Given the description of an element on the screen output the (x, y) to click on. 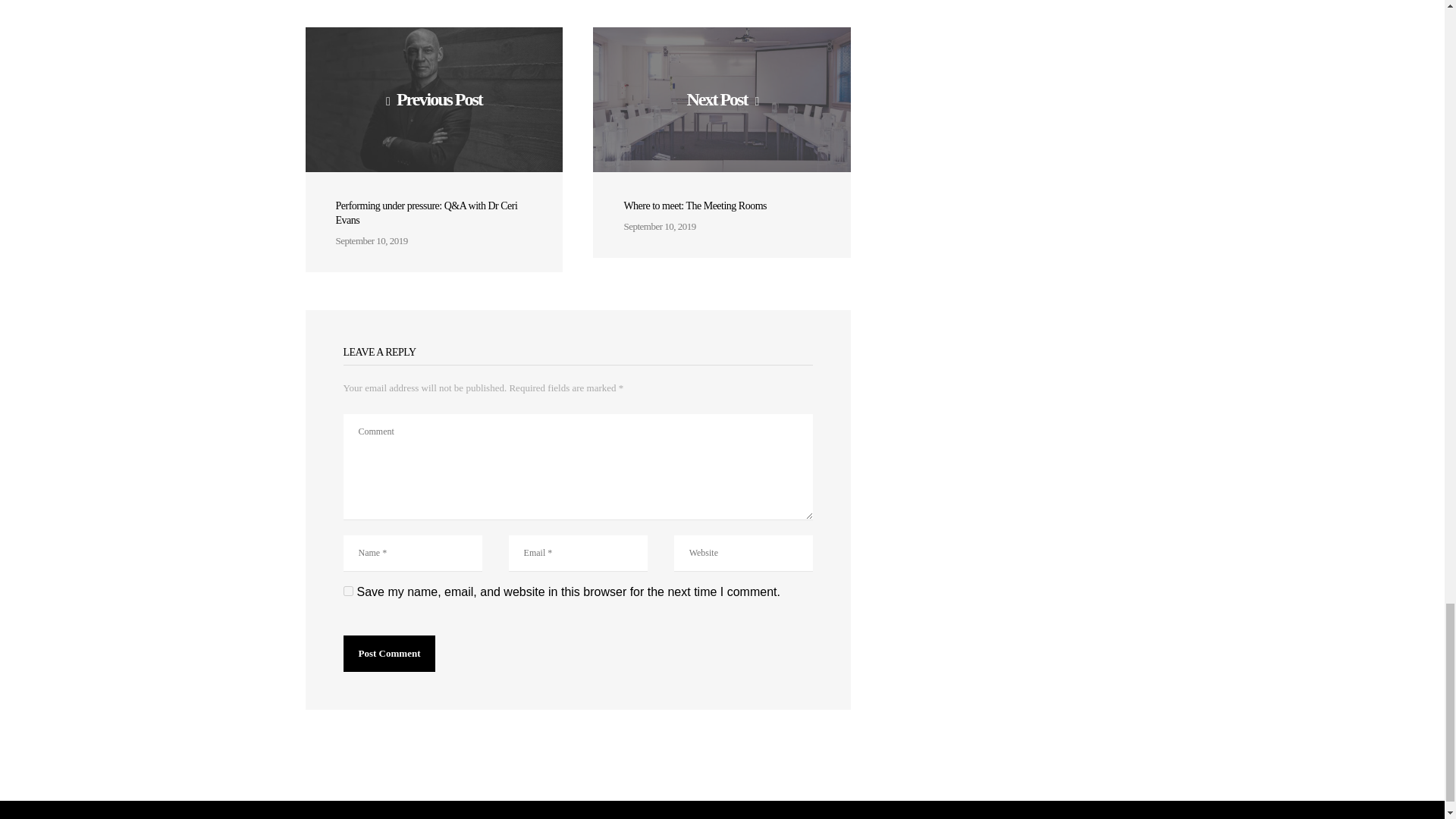
Post Comment (388, 653)
yes (347, 591)
